Given the description of an element on the screen output the (x, y) to click on. 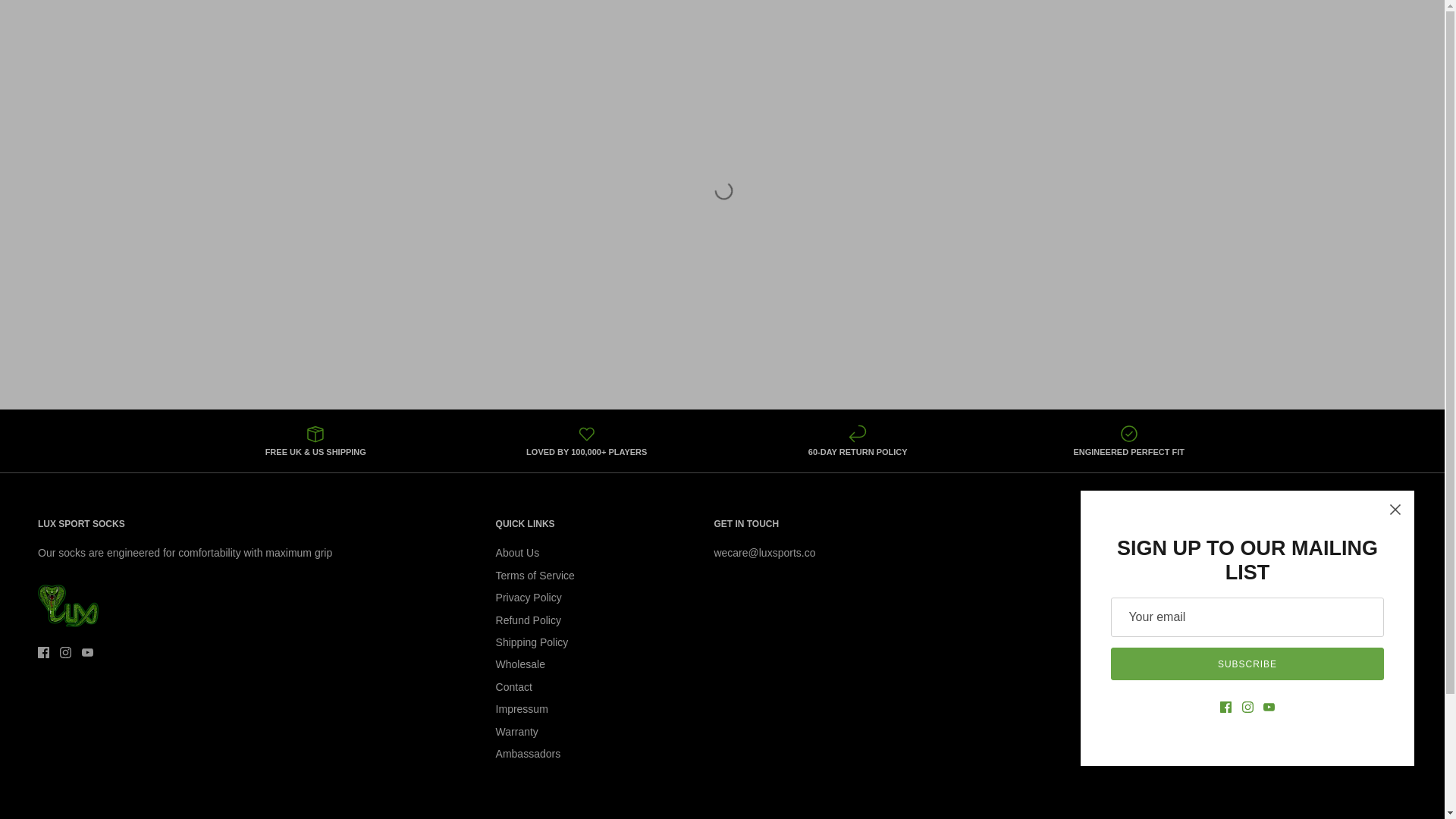
Ambassadors (528, 753)
Shipping Policy (532, 642)
Warranty (517, 730)
Facebook (43, 652)
Wholesale (520, 664)
Instagram (65, 652)
SIGN UP (1212, 679)
Facebook (43, 652)
Contact (514, 686)
Youtube (87, 652)
